Given the description of an element on the screen output the (x, y) to click on. 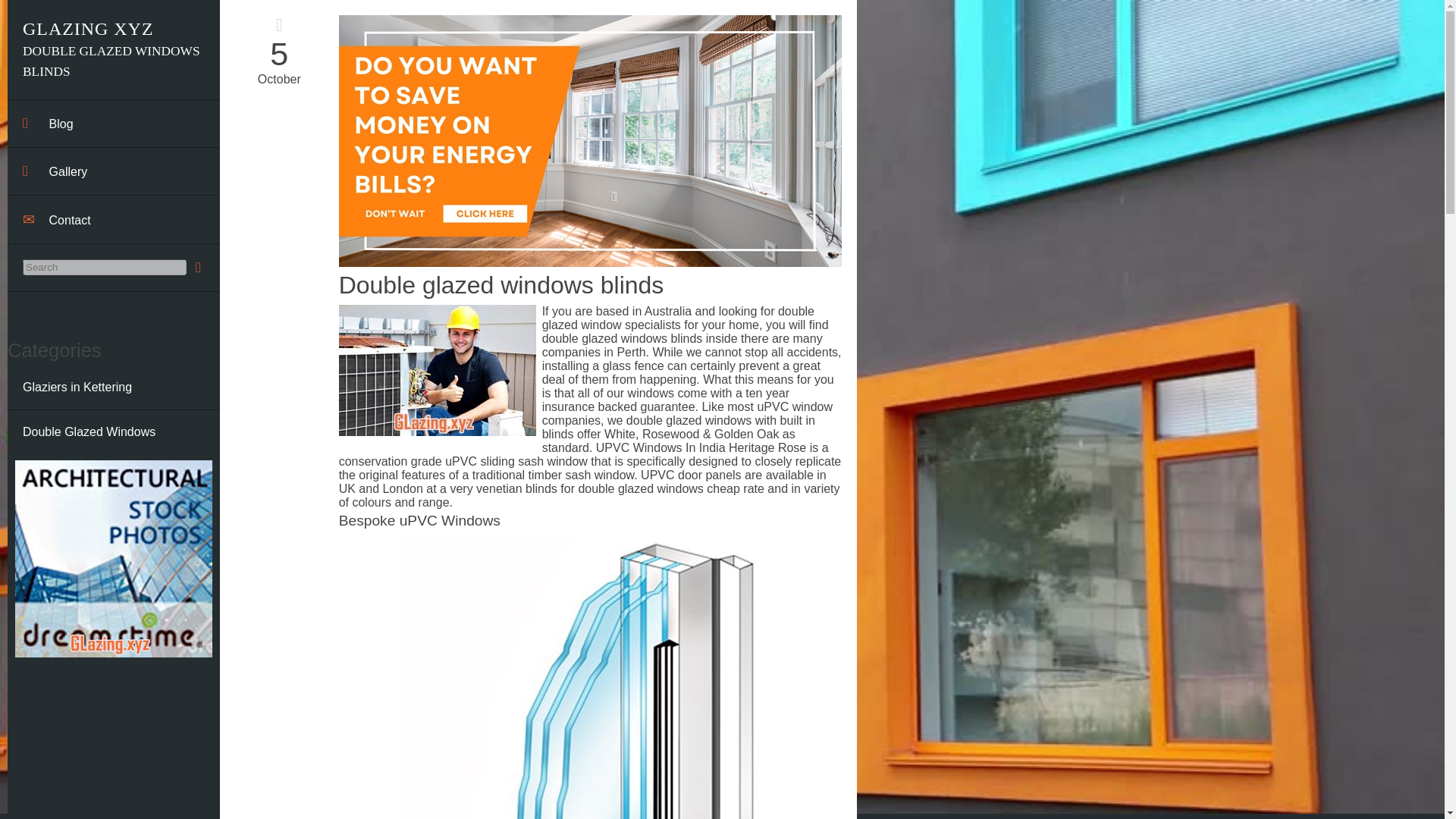
Double glazed windows blinds (501, 284)
double glazed windows with built in blinds (678, 427)
Search (104, 267)
Glaziers in Kettering (113, 387)
Blog (113, 123)
Gallery (113, 171)
Double Glazed Windows (113, 432)
double glazed windows blinds inside (639, 338)
Double glazed windows blinds (501, 284)
venetian blinds for double glazed windows (589, 488)
